Given the description of an element on the screen output the (x, y) to click on. 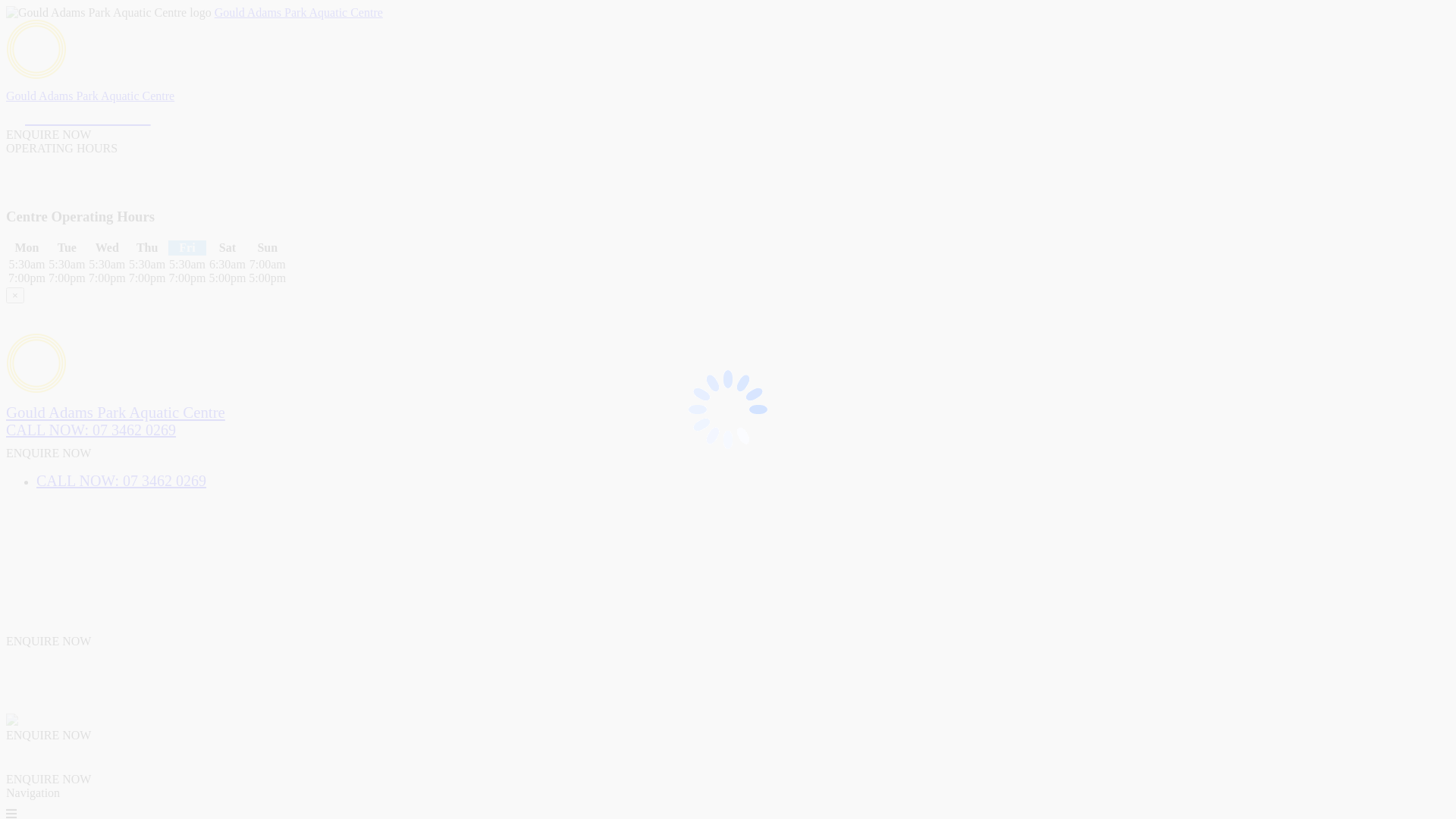
CALL NOW: 07 3462 0269 Element type: text (121, 480)
07 3462 0269 Element type: text (78, 115)
CALL NOW: 07 3462 0269 Element type: text (90, 429)
Gould Adams Park Aquatic Centre Element type: text (298, 12)
Gould Adams Park Aquatic Centre Element type: text (90, 95)
Gould Adams Park Aquatic Centre Element type: text (115, 411)
Click here to view public lane swimming hours for this venue Element type: text (144, 187)
